Given the description of an element on the screen output the (x, y) to click on. 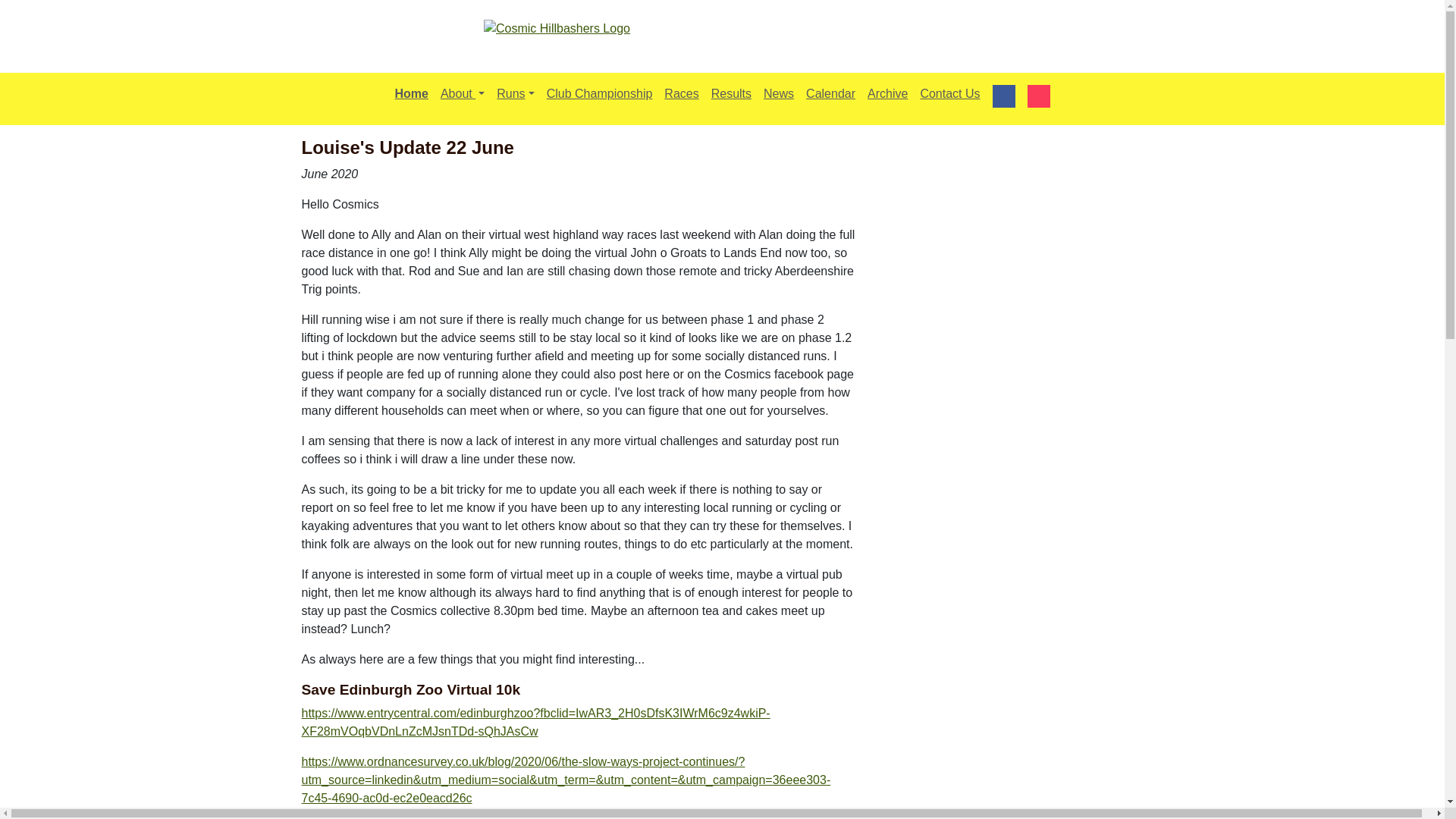
News (778, 93)
Club Championship (599, 93)
Races (681, 93)
Results (730, 93)
Home (410, 93)
Runs (515, 93)
Archive (887, 93)
Contact Us (949, 93)
Calendar (830, 93)
